Given the description of an element on the screen output the (x, y) to click on. 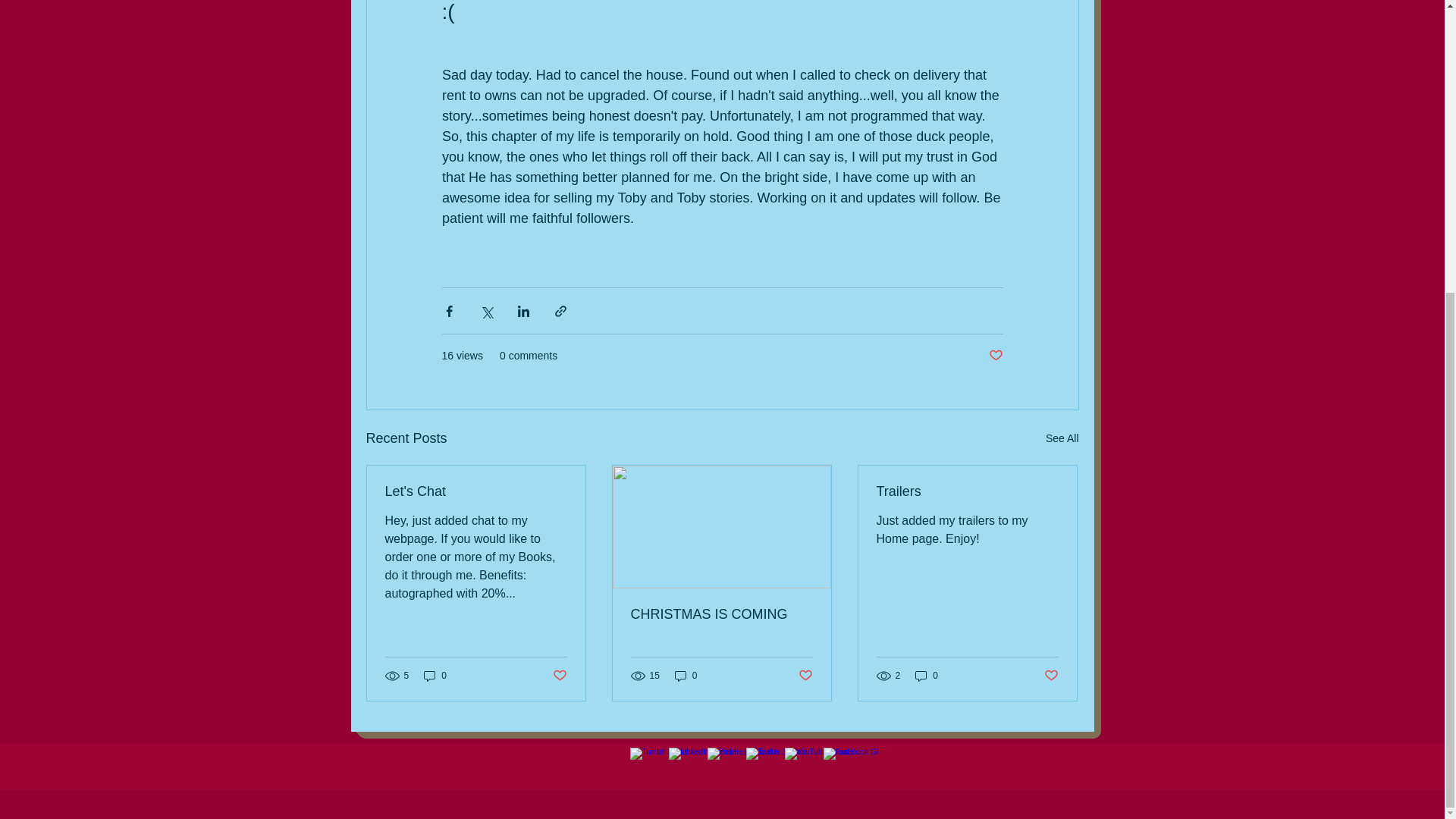
Facebook Like (988, 766)
0 (435, 675)
0 (926, 675)
Let's Chat (476, 491)
Post not marked as liked (995, 355)
Post not marked as liked (804, 675)
0 (685, 675)
CHRISTMAS IS COMING (721, 614)
Trailers (967, 491)
Post not marked as liked (558, 675)
